Given the description of an element on the screen output the (x, y) to click on. 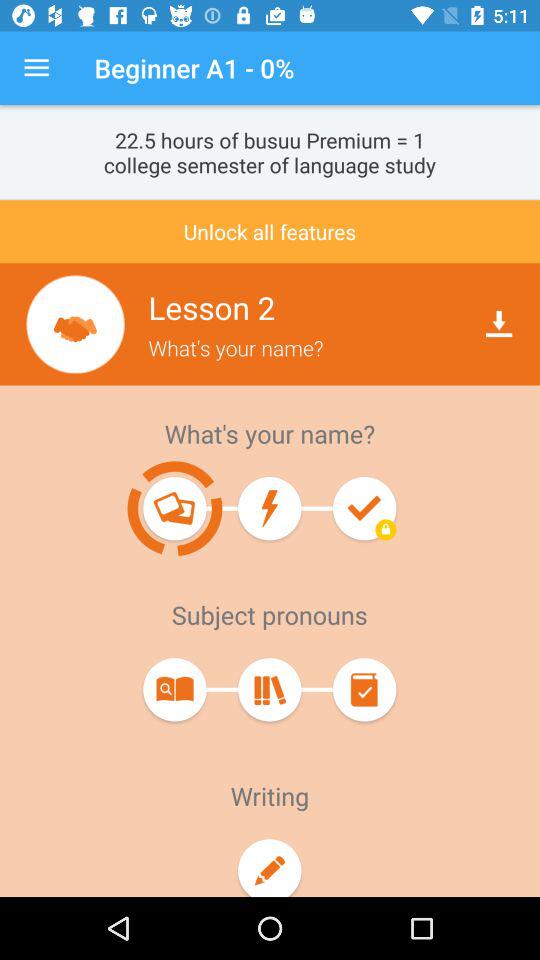
click on the search icon (174, 689)
select the image right to lesson 2 (75, 324)
select download icon on right of lesson 2 text (498, 323)
select the third option in subject pronouns (364, 689)
select tick mark below text whats your name (364, 508)
